Given the description of an element on the screen output the (x, y) to click on. 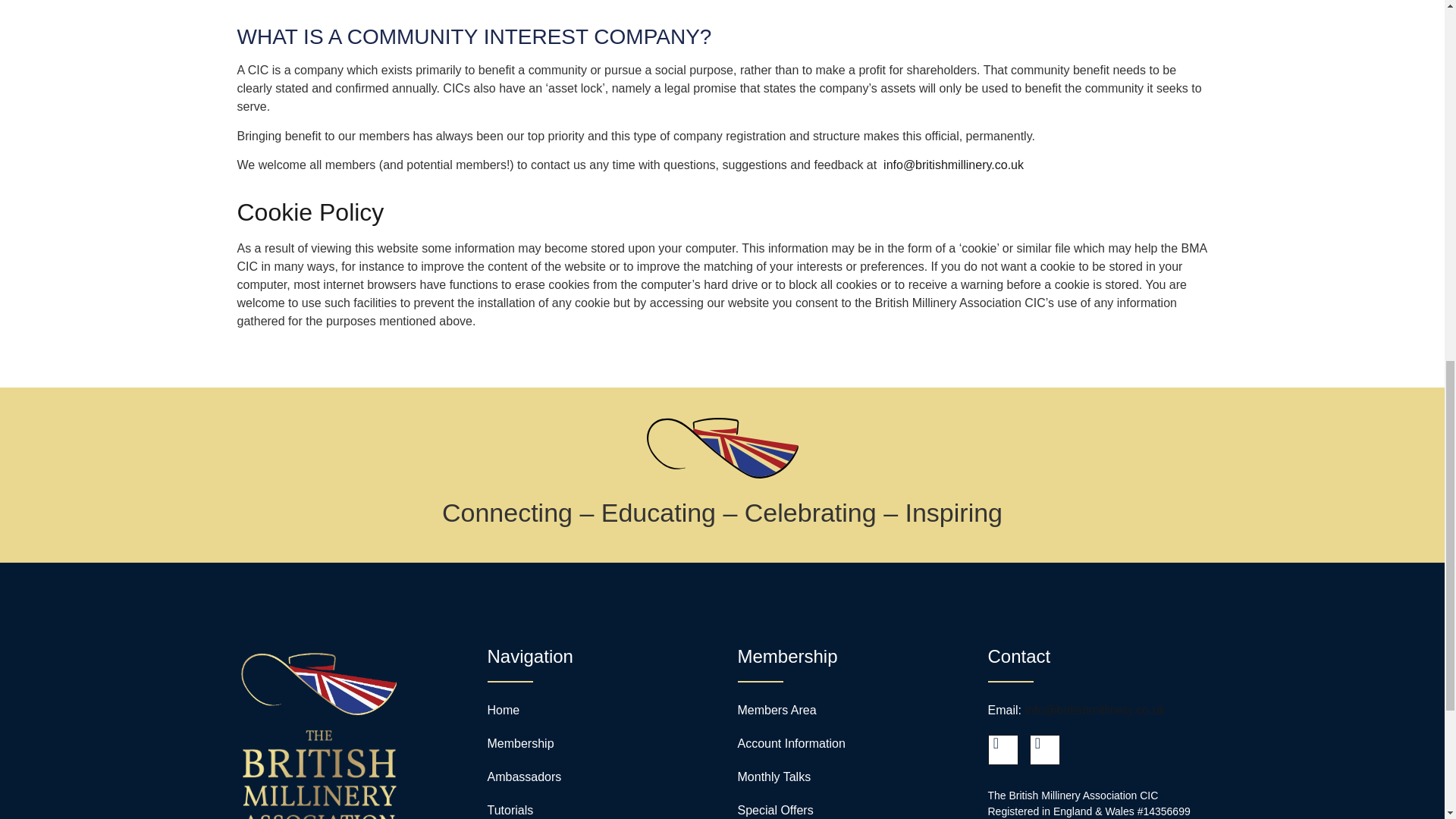
Home (502, 709)
Membership (519, 743)
Special Offers (774, 809)
Account Information (790, 743)
Ambassadors (523, 776)
Monthly Talks (773, 776)
Members Area (775, 709)
Tutorials (509, 809)
